Given the description of an element on the screen output the (x, y) to click on. 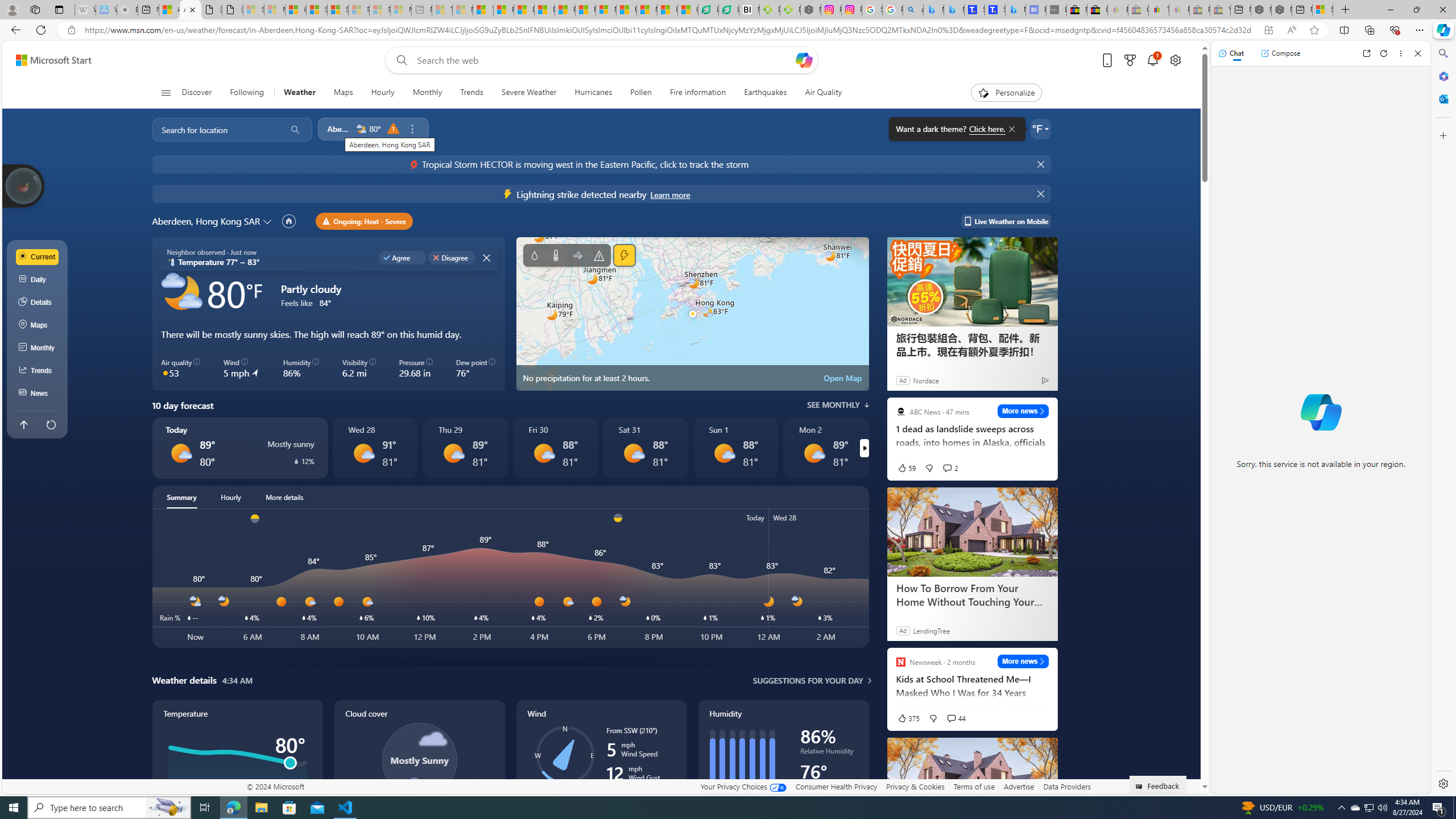
Precipitation (295, 461)
Air Quality (824, 92)
Pressure 29.68 in (415, 368)
Microsoft rewards (1129, 60)
Open Map (842, 377)
Top Stories - MSN - Sleeping (441, 9)
Side bar (1443, 418)
Microsoft Bing Travel - Flights from Hong Kong to Bangkok (933, 9)
Consumer Health Privacy (835, 786)
